Given the description of an element on the screen output the (x, y) to click on. 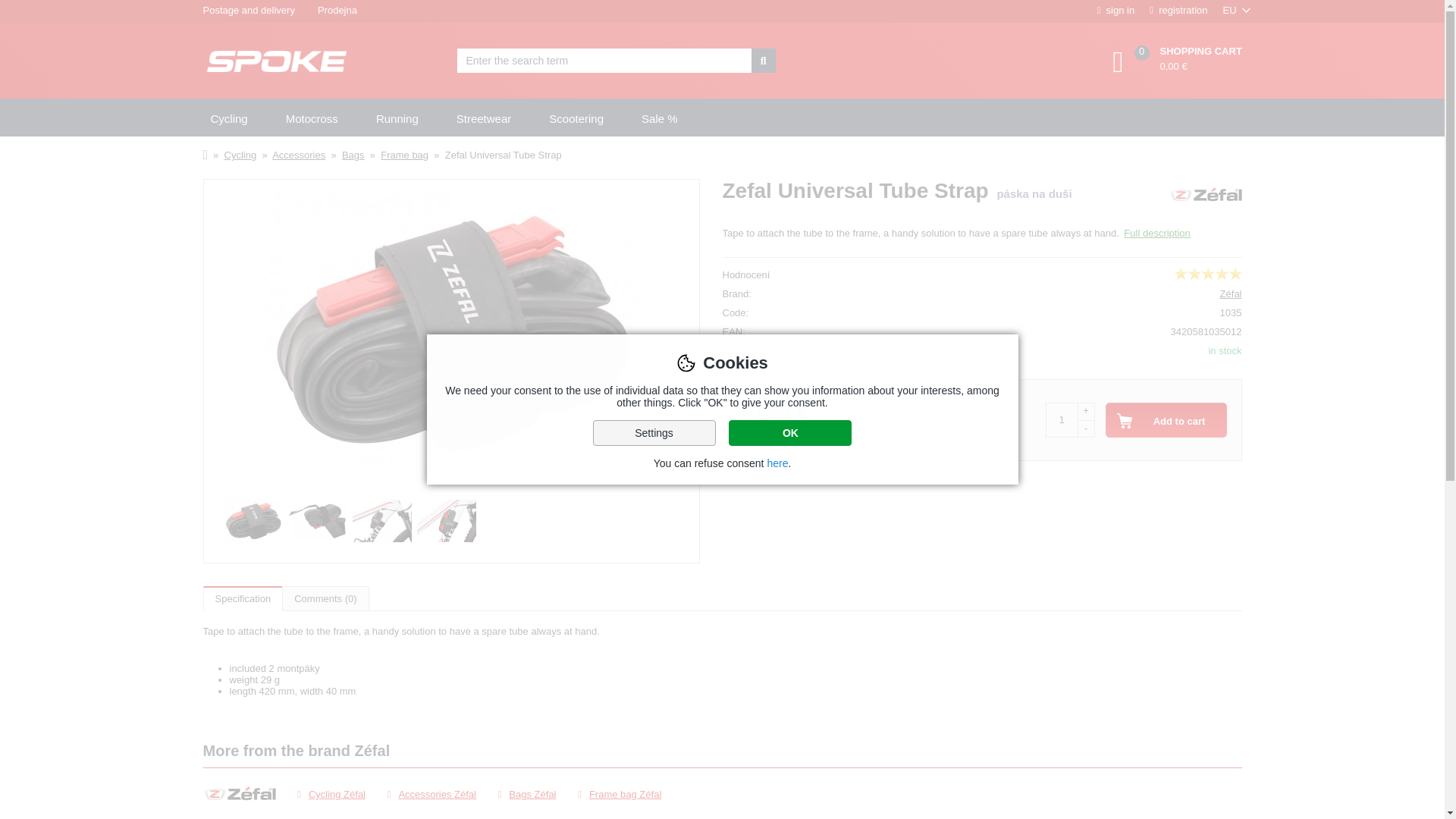
 registration (1177, 10)
Postage and delivery (247, 10)
 sign in (1115, 10)
Prodejna (336, 10)
Add to cart (1166, 419)
1 (1061, 419)
Cycling (228, 118)
